Given the description of an element on the screen output the (x, y) to click on. 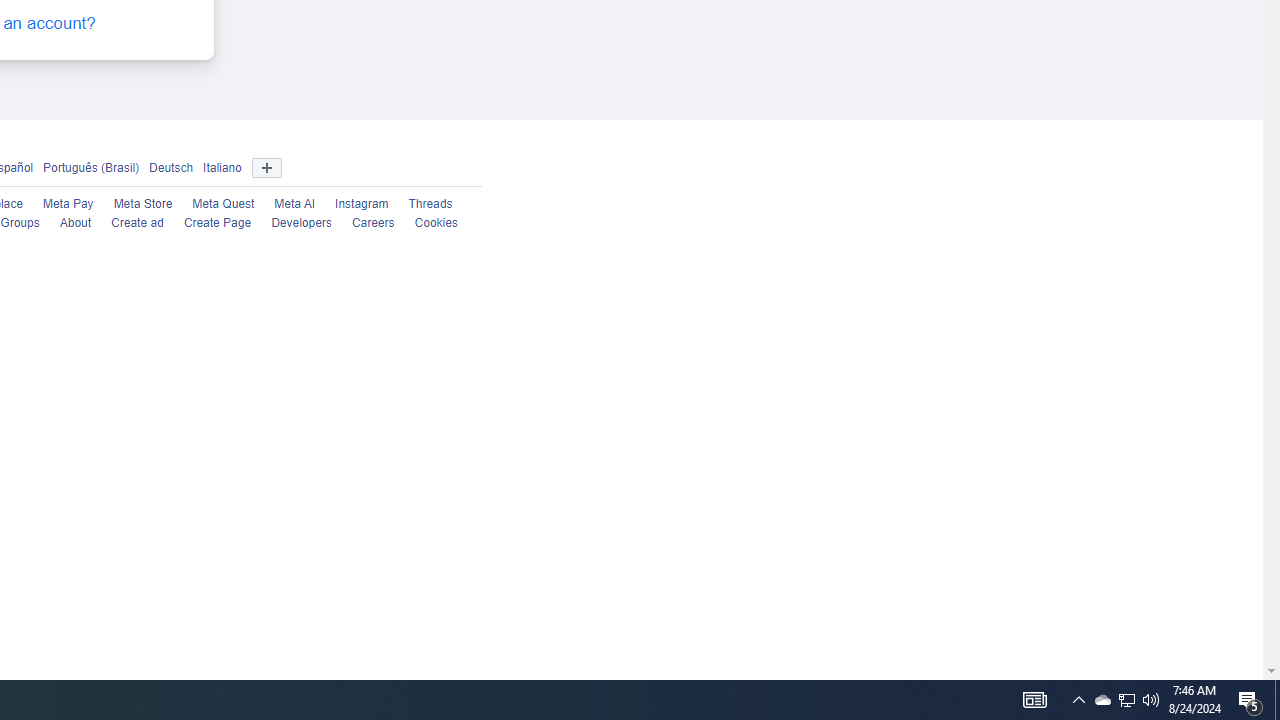
Create ad (137, 223)
About (75, 223)
Create Page (217, 223)
Groups (19, 223)
Deutsch (171, 166)
Instagram (362, 204)
Threads (430, 204)
Italiano (222, 166)
Cookies (435, 223)
Developers (301, 223)
Careers (372, 223)
Show more languages (265, 168)
Meta Store (142, 204)
